Given the description of an element on the screen output the (x, y) to click on. 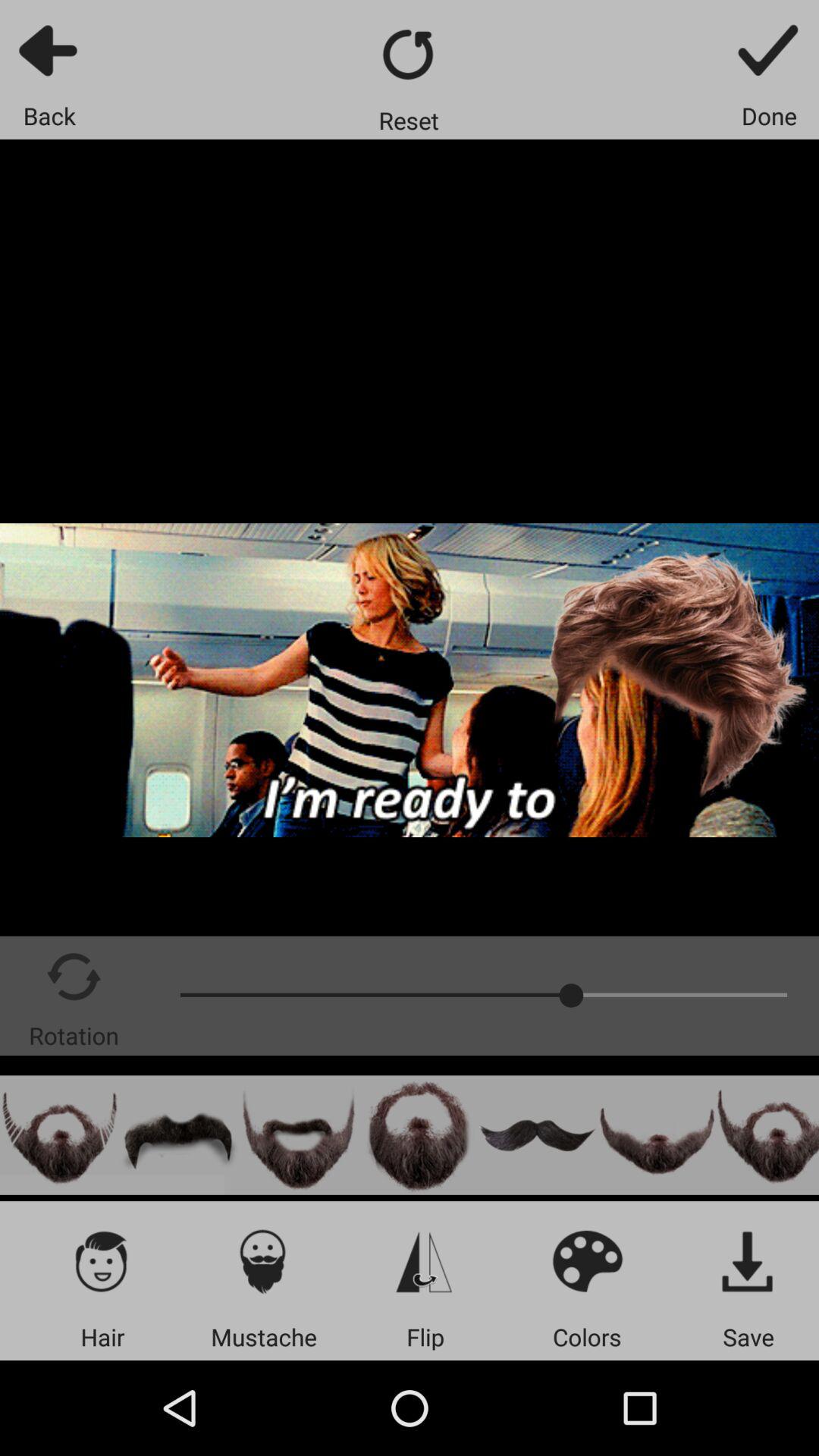
select moustache (178, 1134)
